Given the description of an element on the screen output the (x, y) to click on. 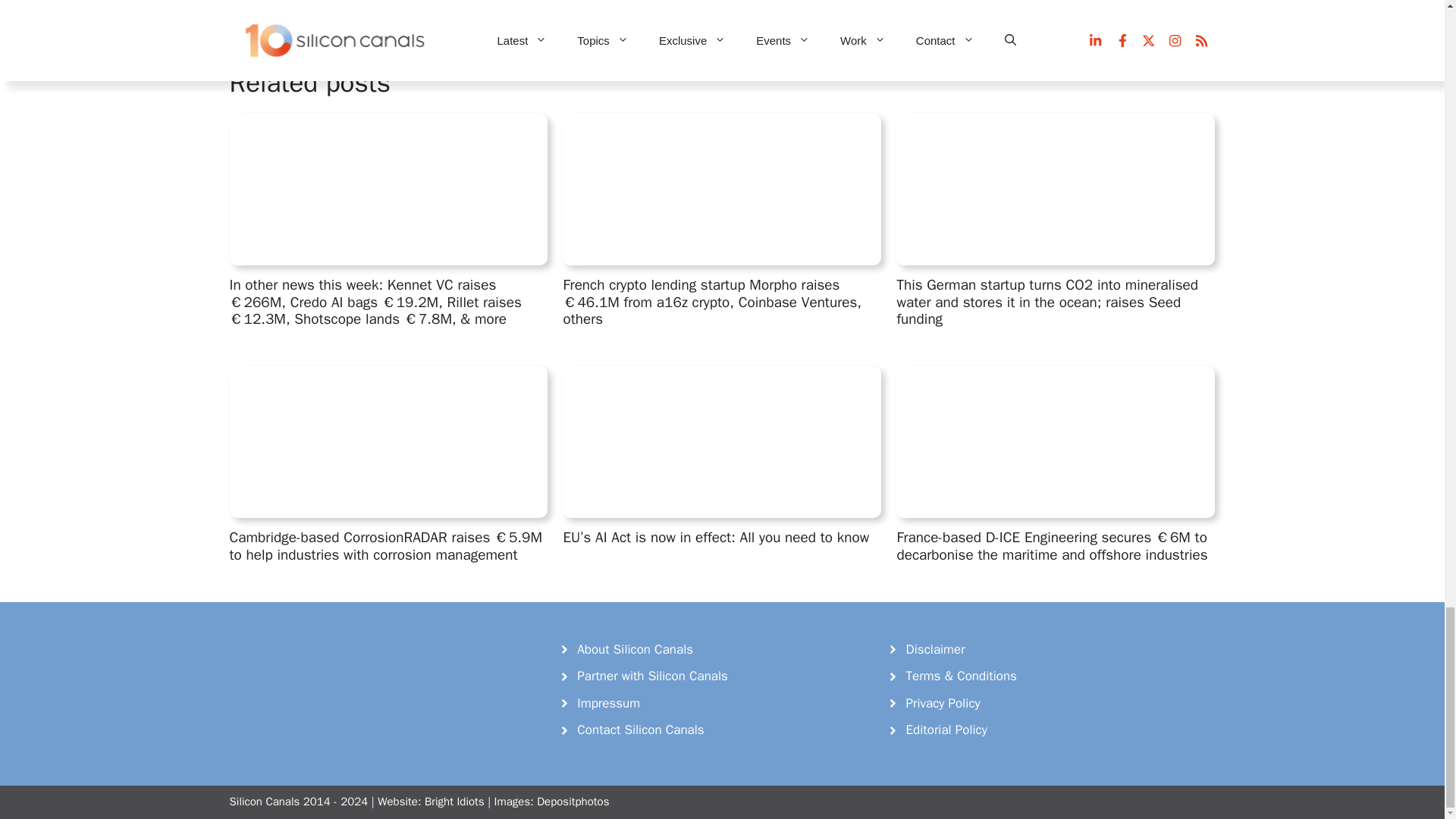
Silicon Canals logo white SC (342, 670)
